Given the description of an element on the screen output the (x, y) to click on. 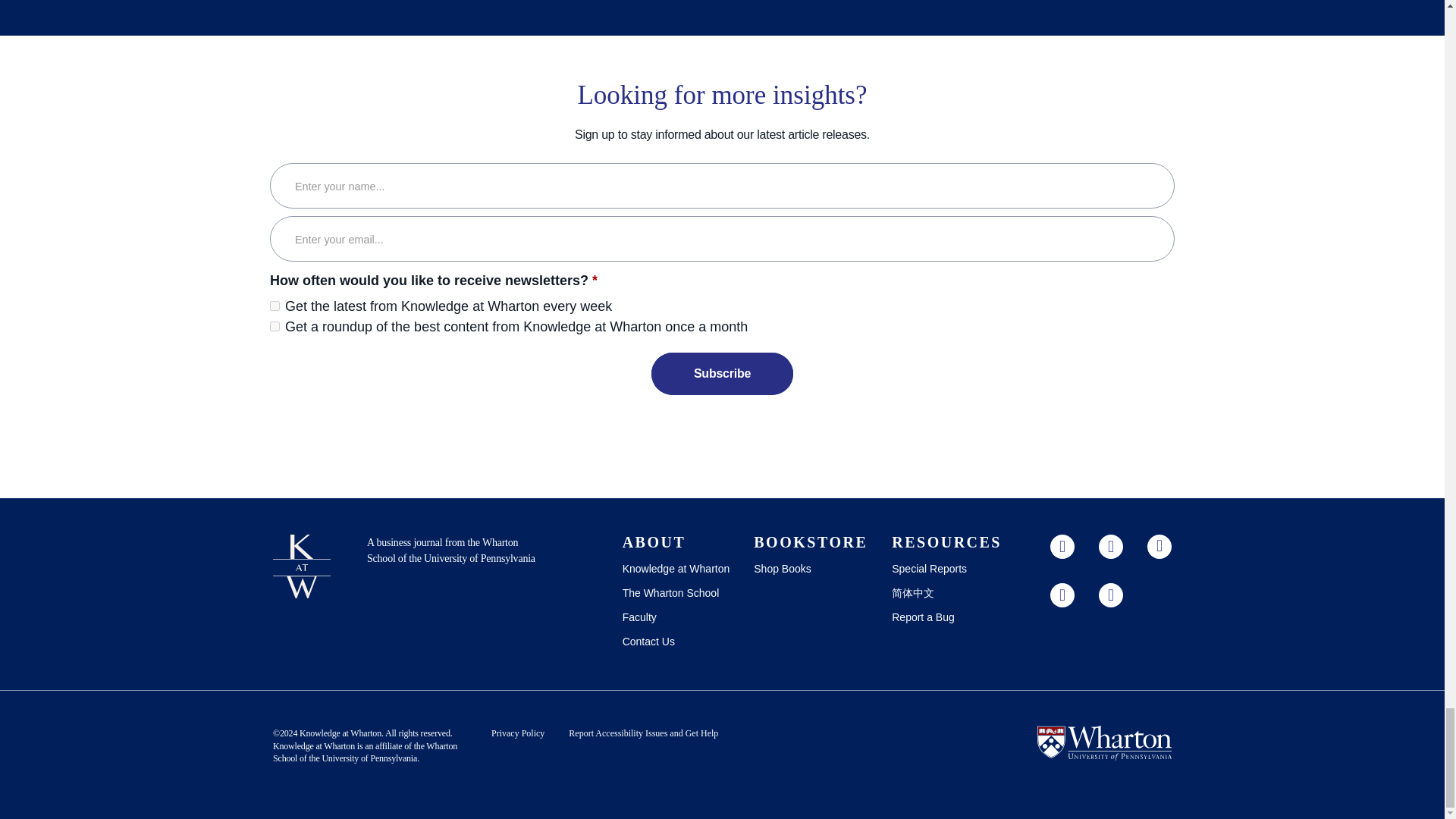
6825401 (274, 326)
Knowledge at Wharton (340, 733)
Knowledge at Wharton (314, 746)
6836382 (274, 306)
